Given the description of an element on the screen output the (x, y) to click on. 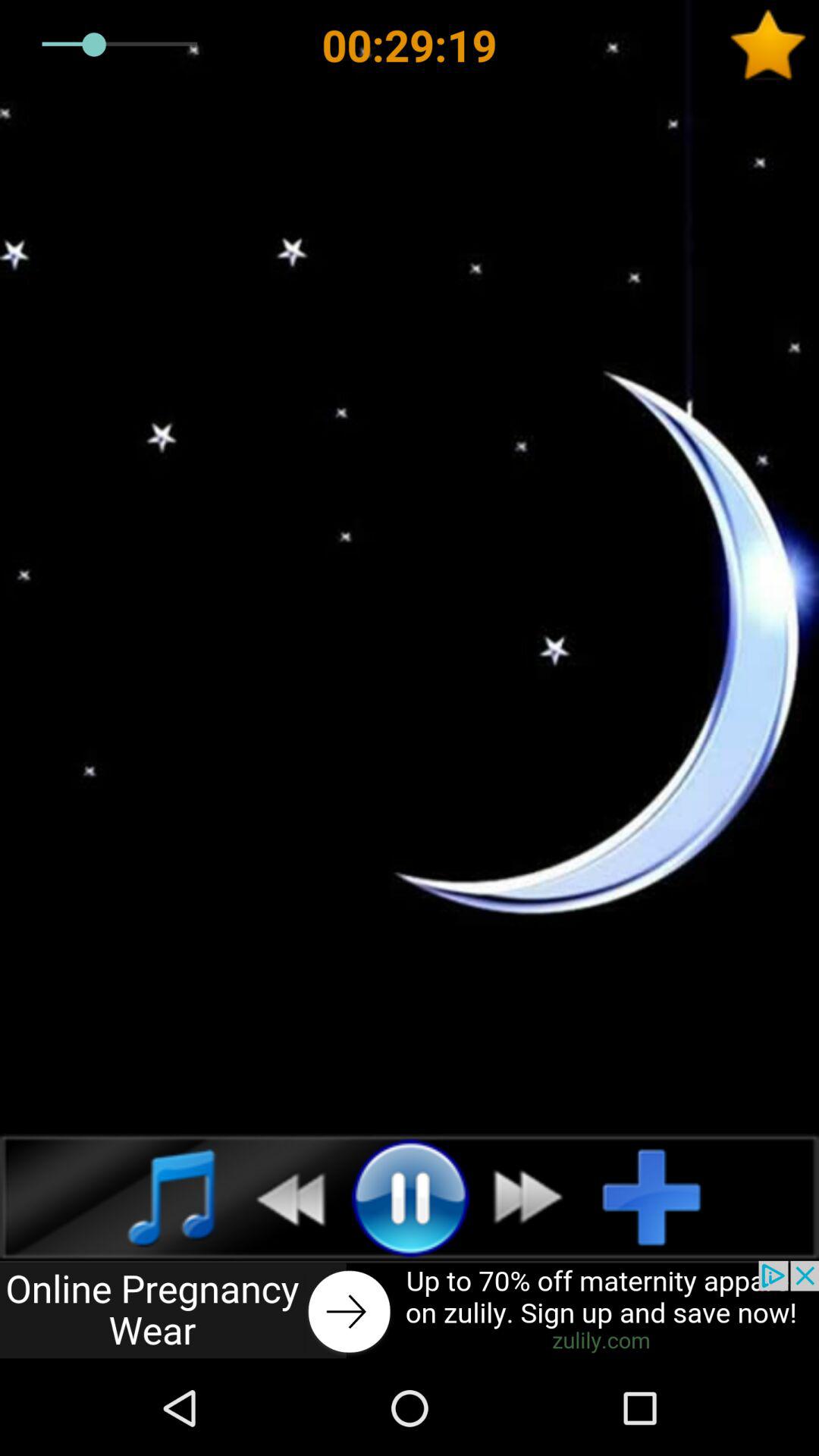
button image (409, 1310)
